Given the description of an element on the screen output the (x, y) to click on. 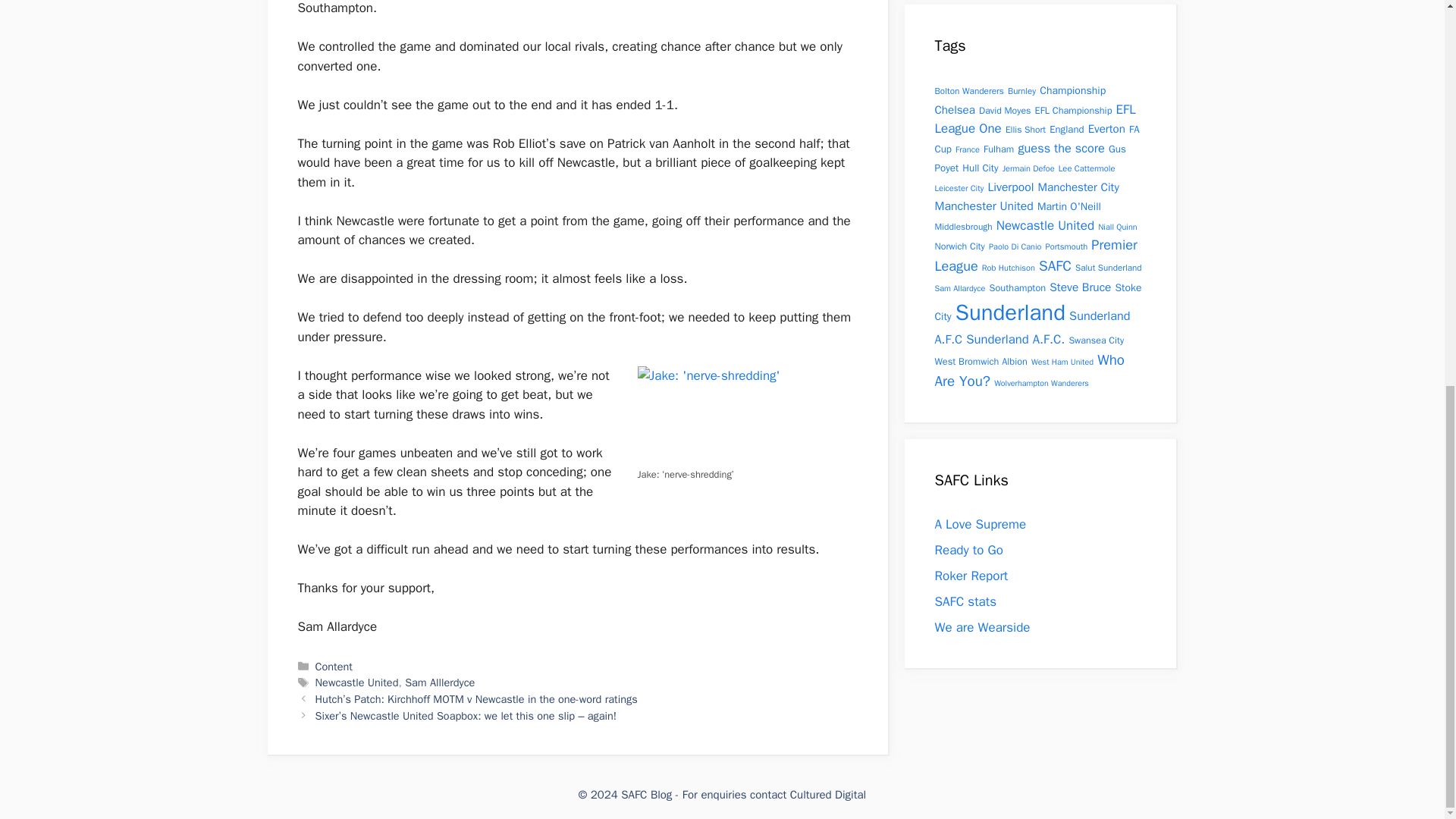
Sam Alllerdyce (439, 682)
David Moyes (1004, 110)
Ellis Short (1025, 129)
Chelsea (954, 108)
Hull City (979, 167)
Everton (1106, 128)
FA Cup (1036, 138)
Content (333, 666)
EFL League One (1034, 119)
England (1066, 128)
